Given the description of an element on the screen output the (x, y) to click on. 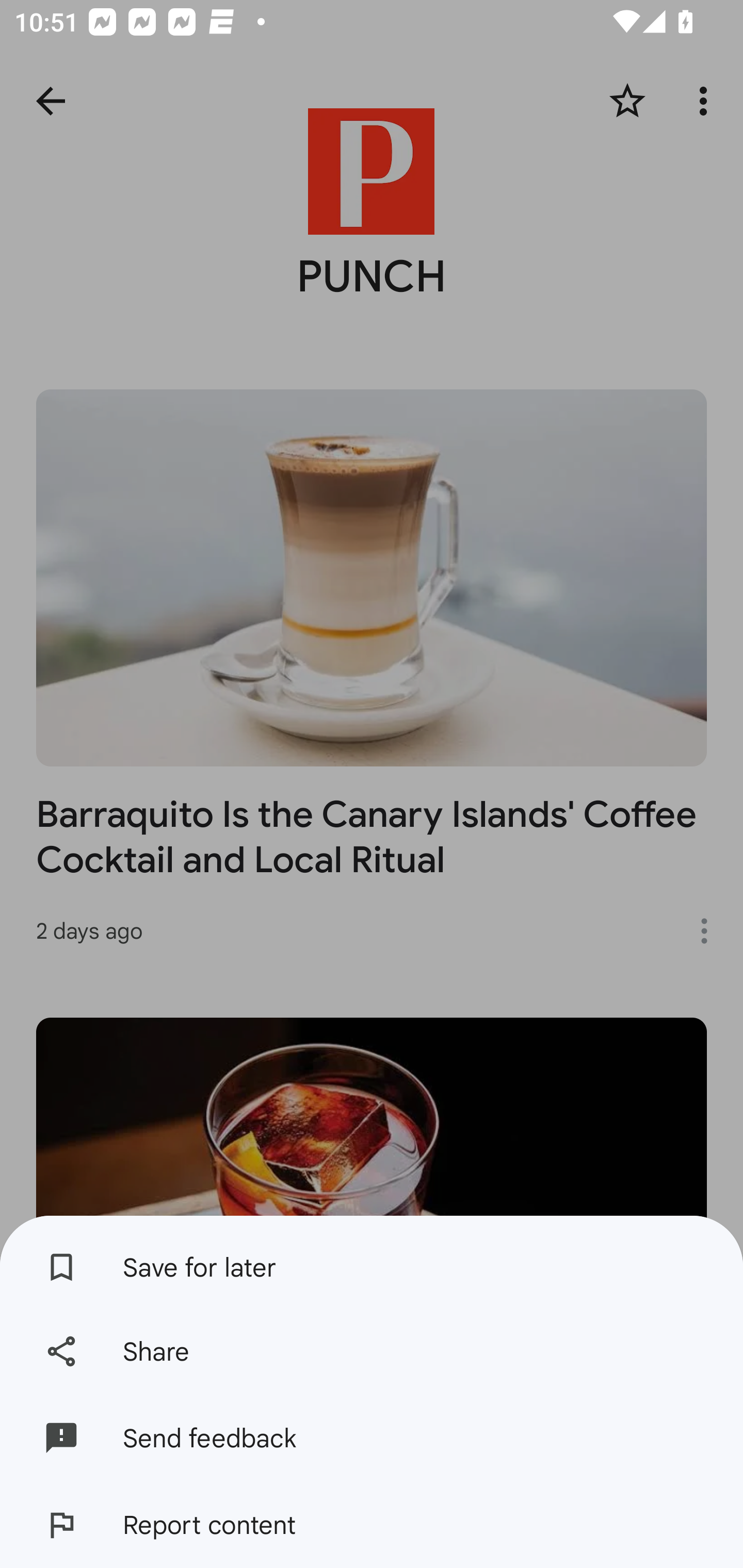
Save for later (371, 1261)
Share (371, 1350)
Send feedback (371, 1437)
Report content (371, 1524)
